Given the description of an element on the screen output the (x, y) to click on. 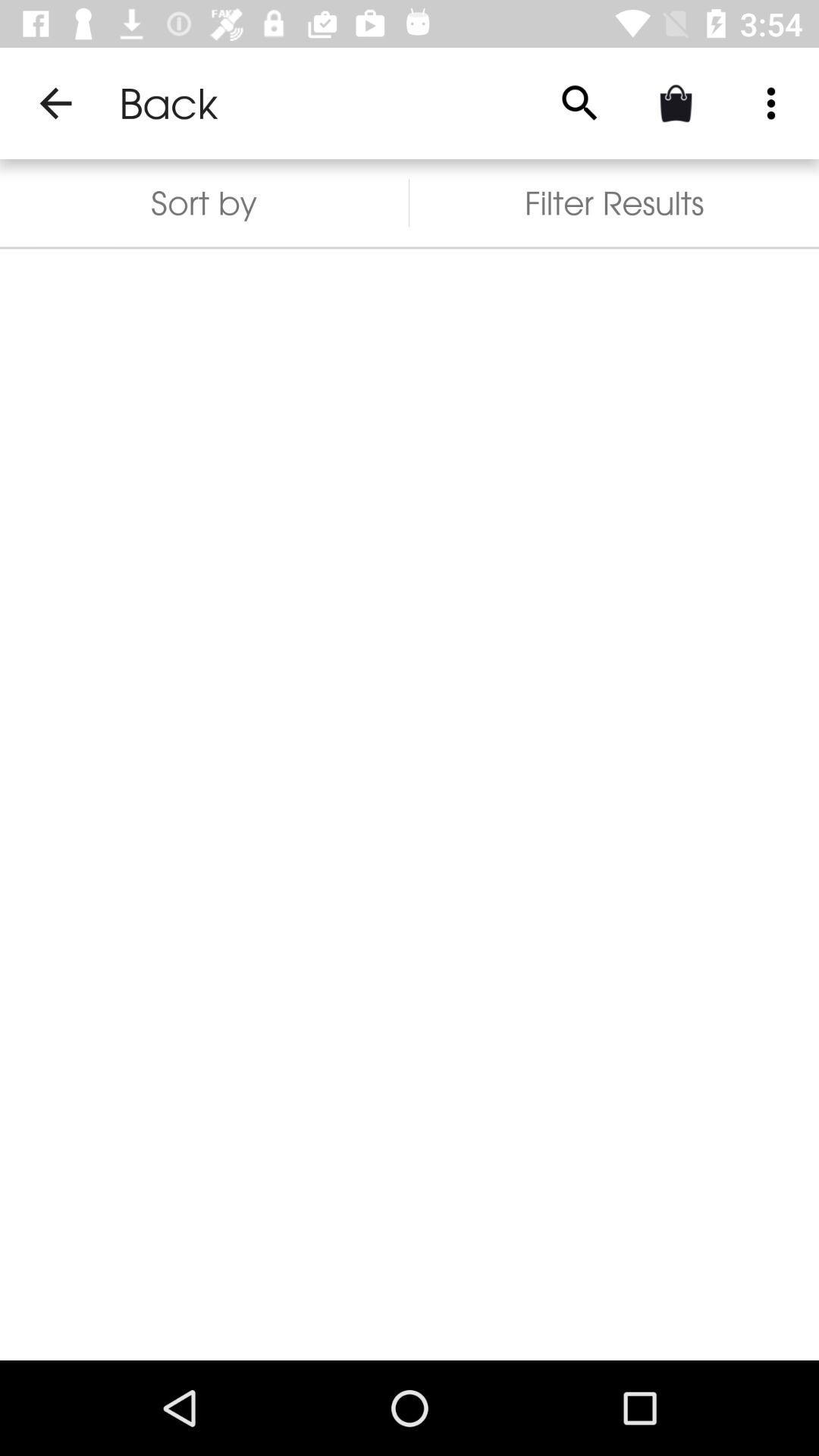
open the item above the filter results item (579, 103)
